Given the description of an element on the screen output the (x, y) to click on. 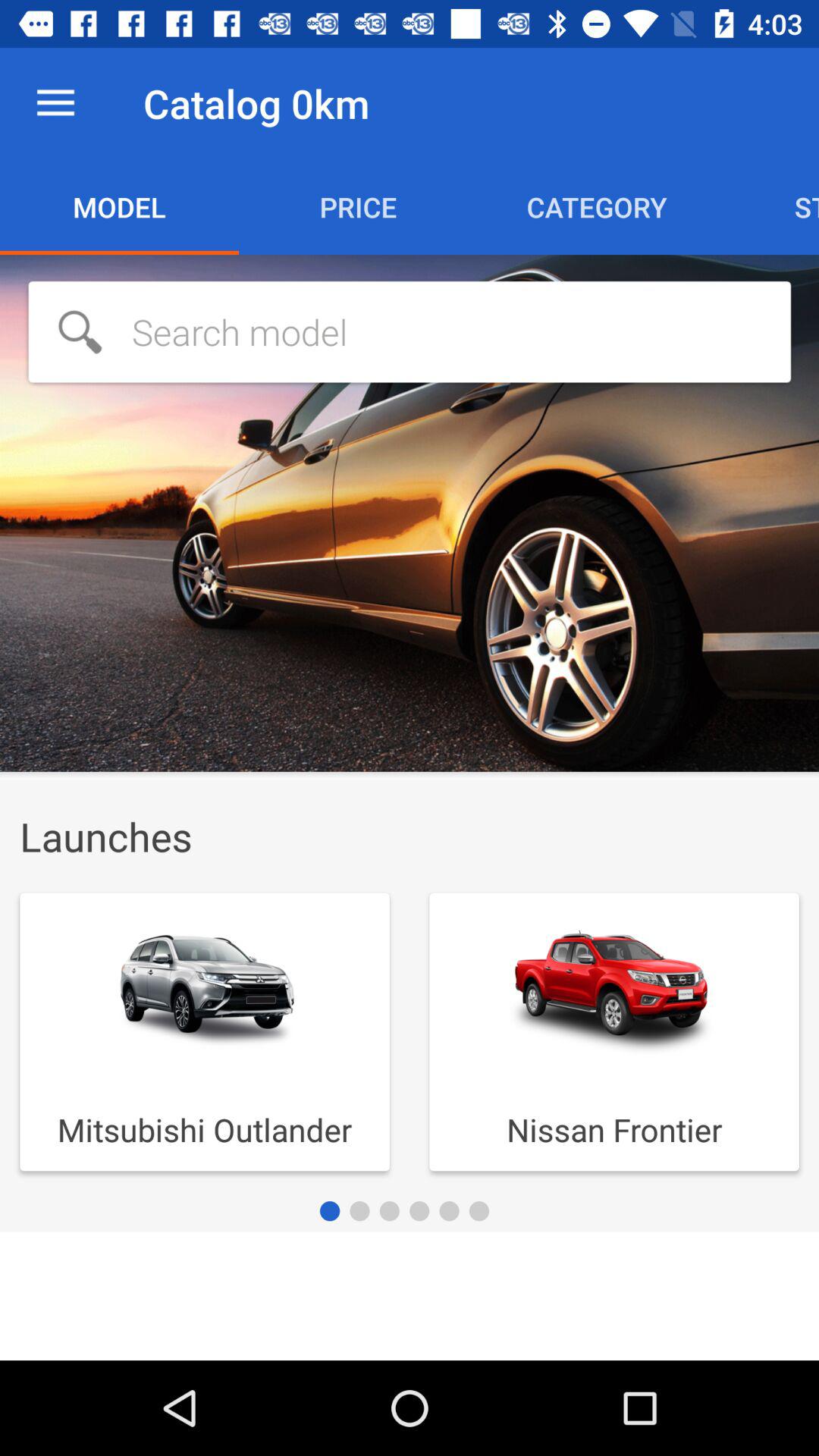
search option (409, 331)
